Given the description of an element on the screen output the (x, y) to click on. 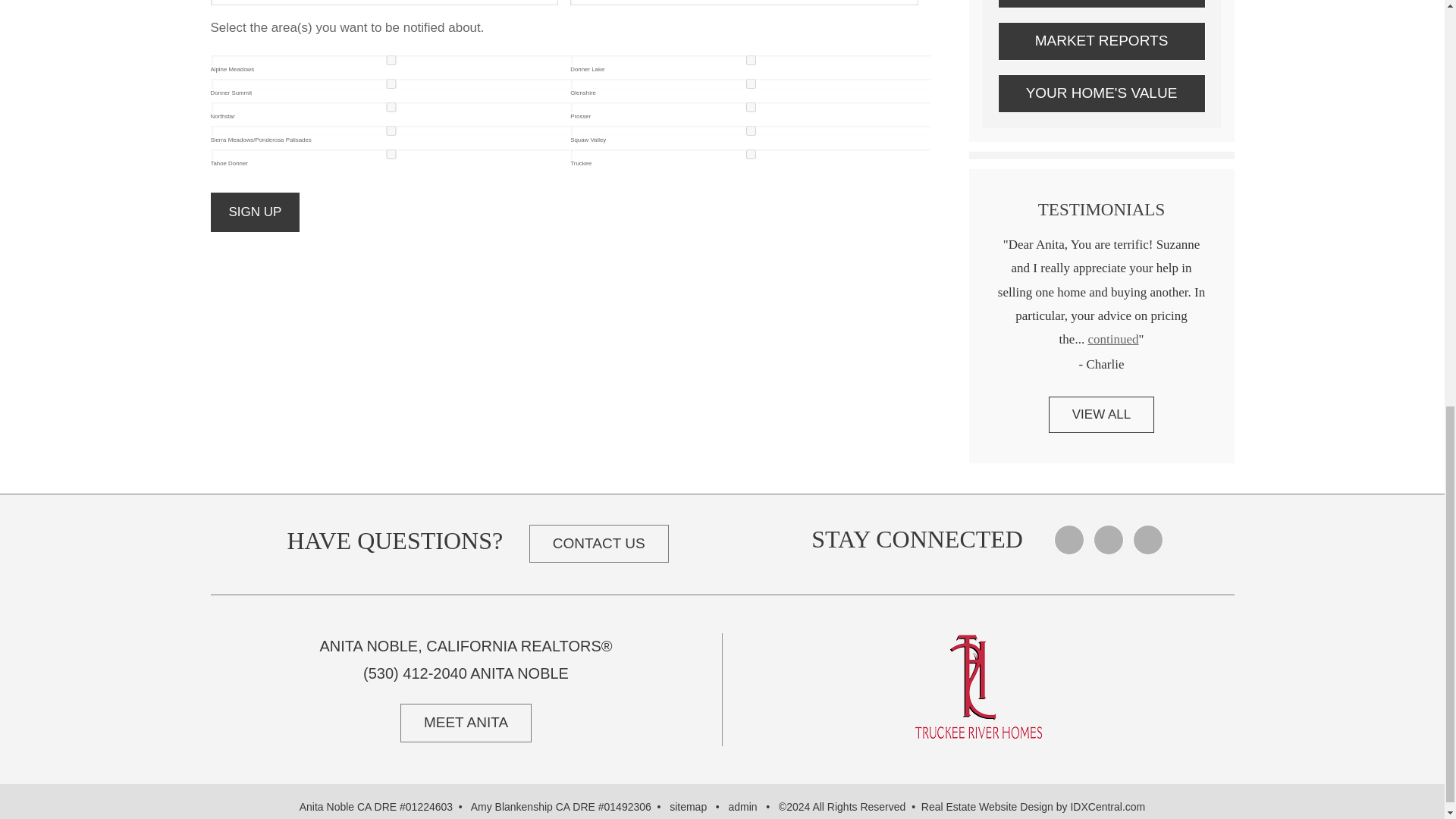
Truckee (750, 153)
Real Estate Website Design (986, 806)
VIEW ALL (1101, 414)
Sign Up (255, 211)
MEET ANITA (465, 722)
continued (1112, 339)
Tahoe Donner (390, 153)
Northstar (390, 107)
SEARCH LISTINGS (1101, 4)
CONTACT US (598, 543)
Donner Summit (390, 83)
Glenshire (750, 83)
Prosser (750, 107)
MARKET REPORTS (1101, 41)
Squaw Valley (750, 130)
